Given the description of an element on the screen output the (x, y) to click on. 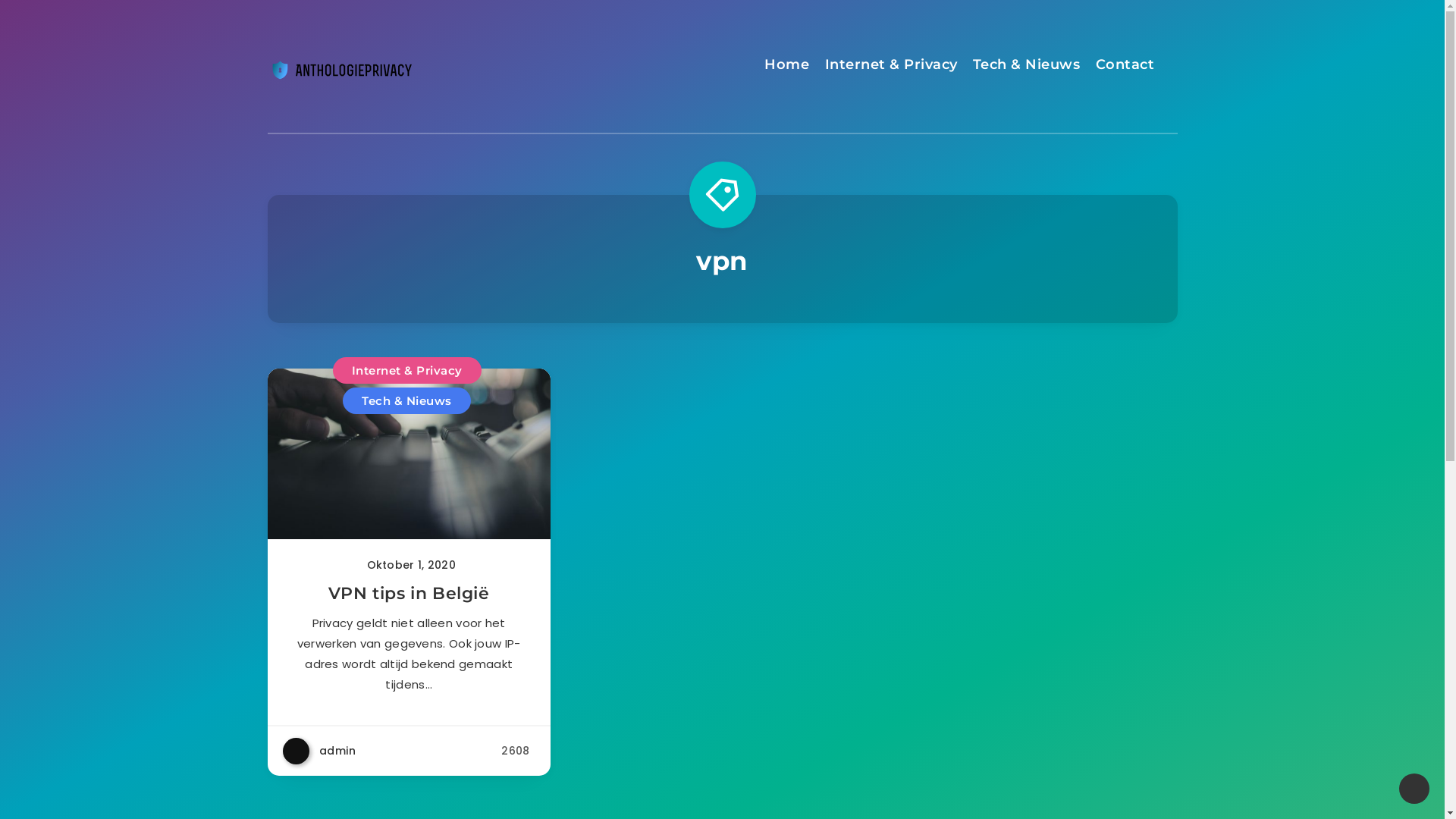
Internet & Privacy Element type: text (891, 66)
Home Element type: text (786, 66)
Contact Element type: text (1124, 66)
admin Element type: text (318, 750)
Tech & Nieuws Element type: text (1026, 66)
Tech & Nieuws Element type: text (406, 400)
Internet & Privacy Element type: text (406, 370)
